Given the description of an element on the screen output the (x, y) to click on. 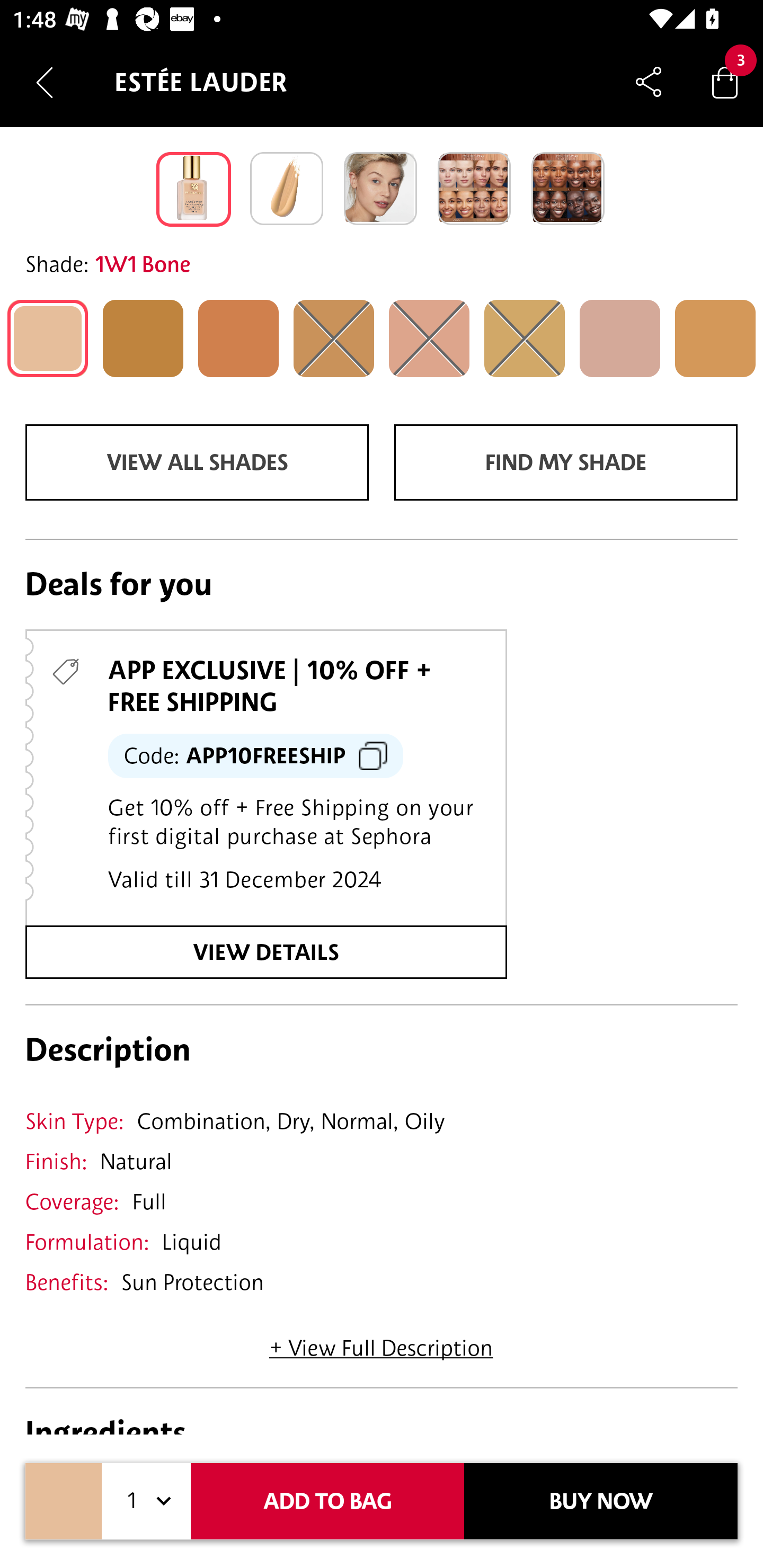
Navigate up (44, 82)
Share (648, 81)
Bag (724, 81)
VIEW ALL SHADES (196, 462)
FIND MY SHADE (565, 462)
VIEW DETAILS (266, 951)
+ View Full Description (380, 1341)
1 (145, 1500)
ADD TO BAG (326, 1500)
BUY NOW (600, 1500)
